Given the description of an element on the screen output the (x, y) to click on. 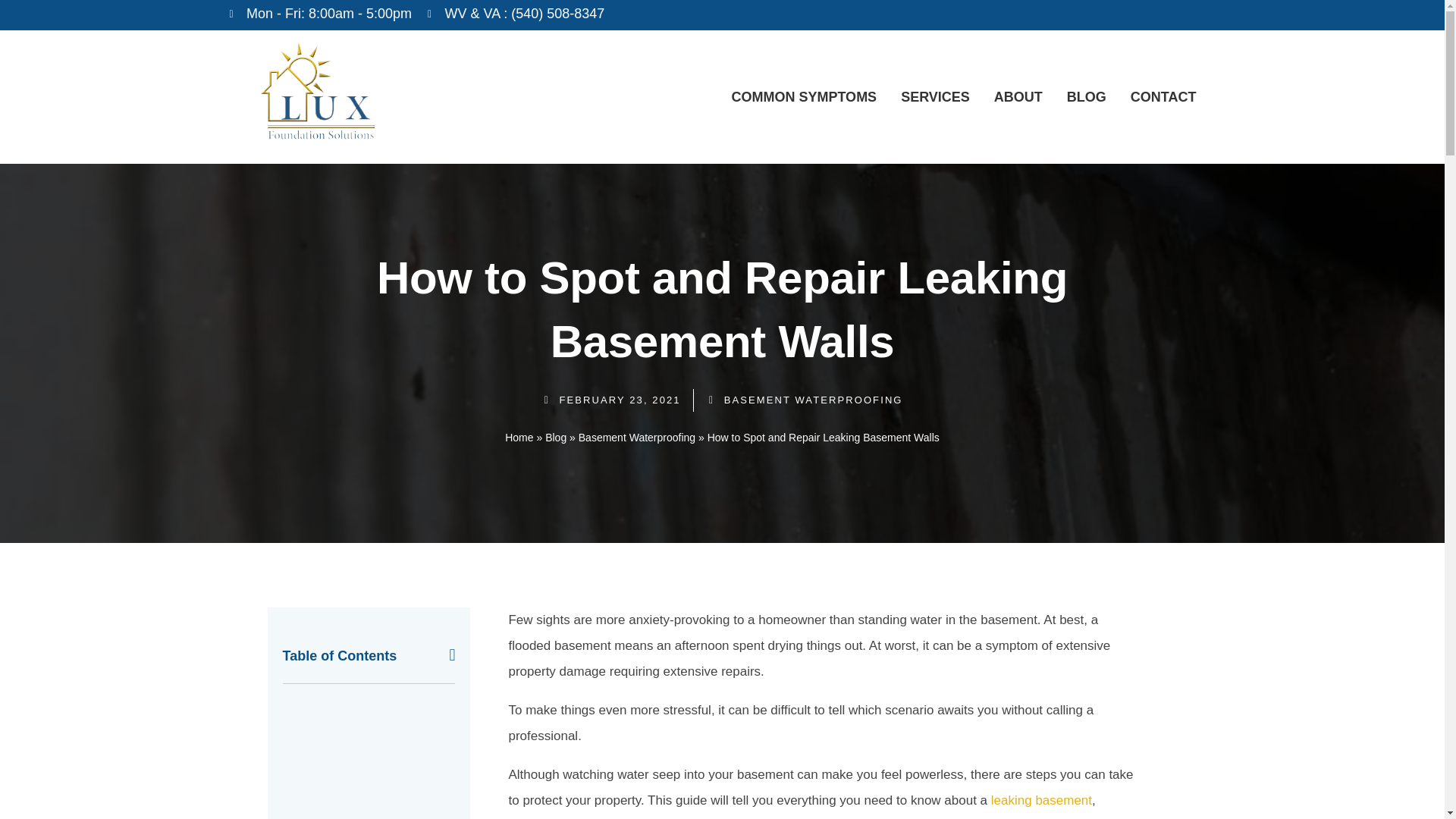
COMMON SYMPTOMS (803, 96)
BLOG (1086, 96)
Basement Waterproofing (636, 437)
SERVICES (935, 96)
ABOUT (1018, 96)
Blog (555, 437)
BASEMENT WATERPROOFING (812, 399)
Home (518, 437)
CONTACT (1163, 96)
